Given the description of an element on the screen output the (x, y) to click on. 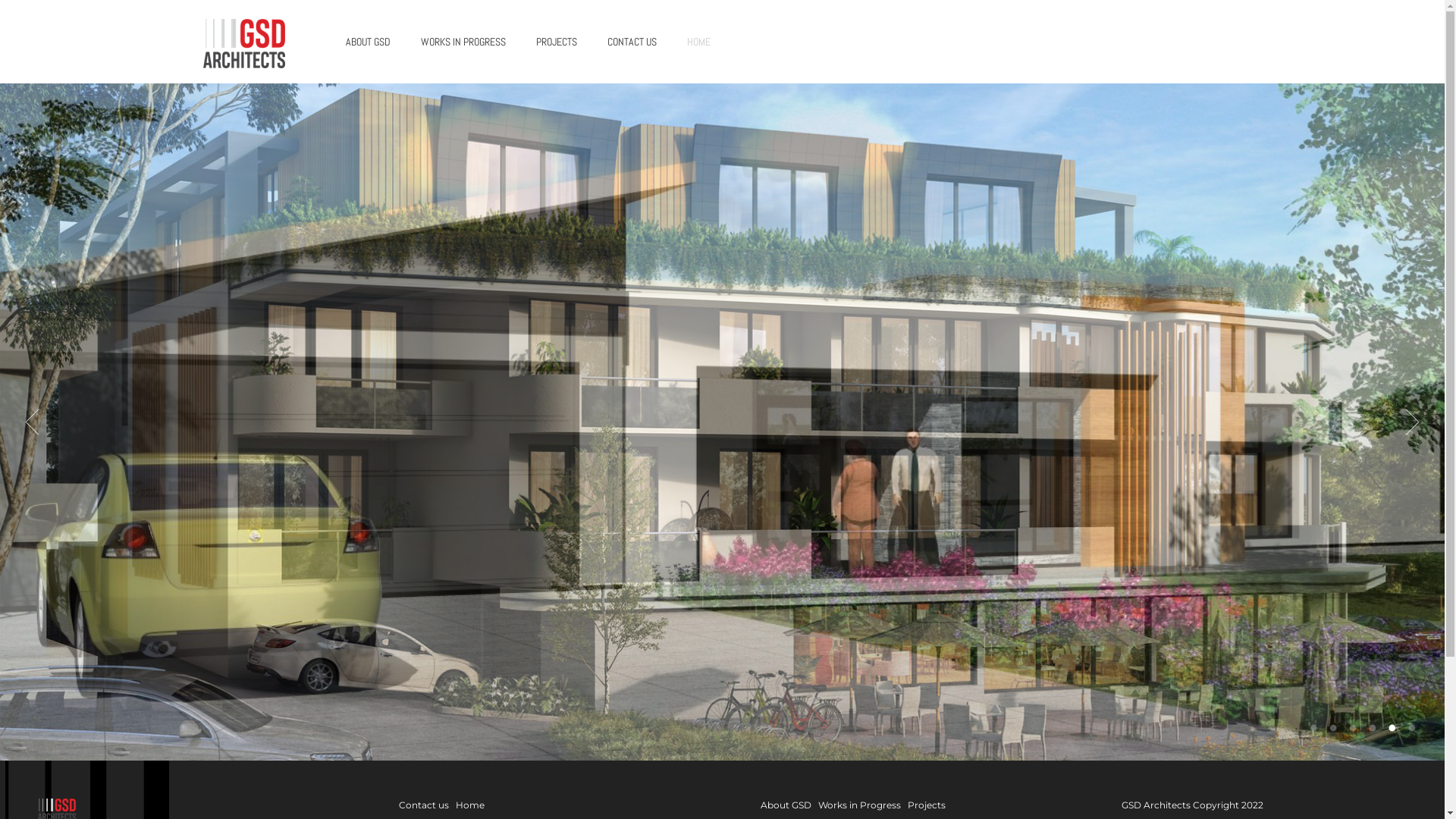
HOME Element type: text (698, 41)
Projects Element type: text (925, 804)
CONTACT US Element type: text (631, 41)
ABOUT GSD Element type: text (367, 41)
PROJECTS Element type: text (555, 41)
WORKS IN PROGRESS Element type: text (462, 41)
About GSD Element type: text (784, 804)
Works in Progress Element type: text (858, 804)
Contact us Element type: text (423, 804)
Home Element type: text (469, 804)
